Given the description of an element on the screen output the (x, y) to click on. 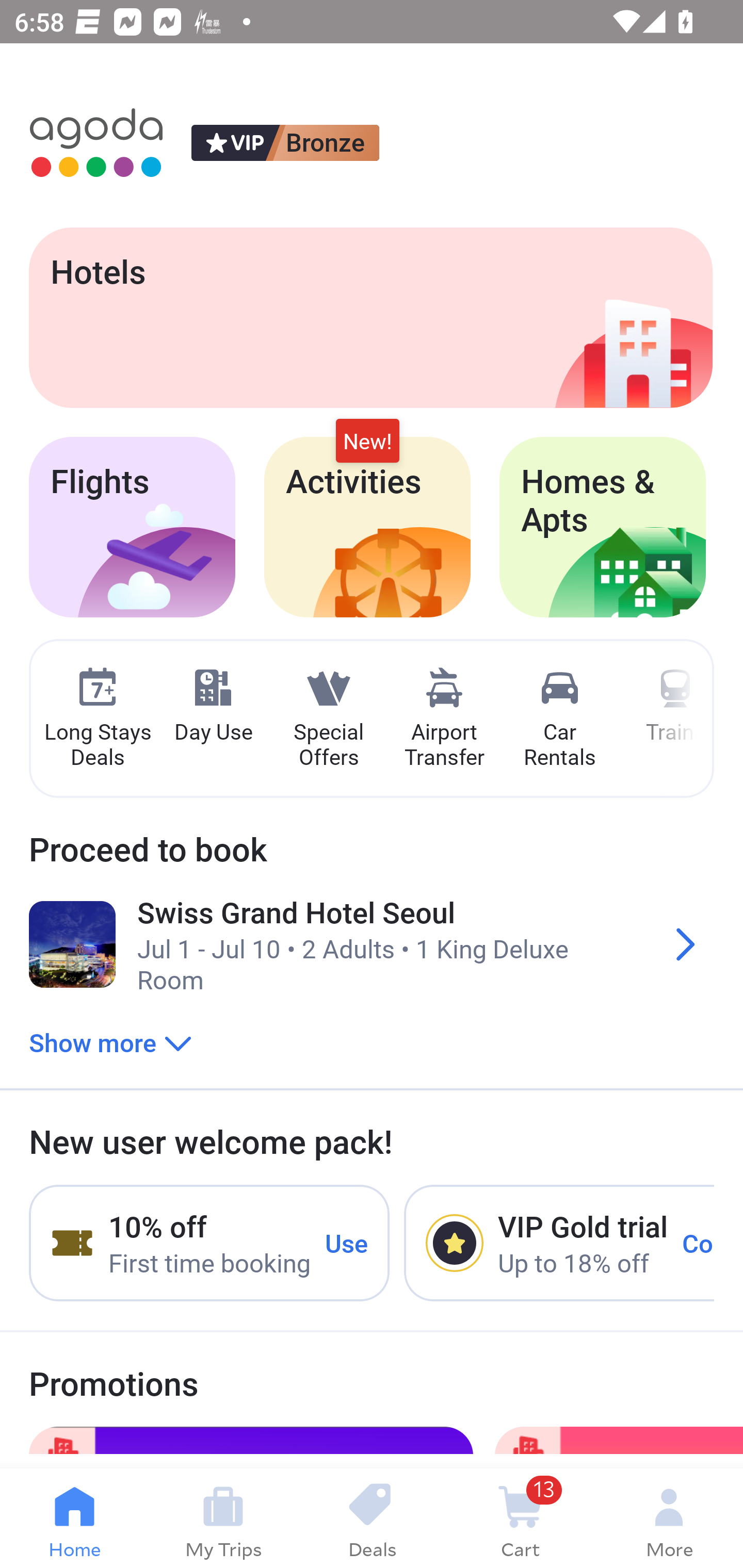
Hotels (370, 317)
New! (367, 441)
Flights (131, 527)
Activities (367, 527)
Homes & Apts (602, 527)
Day Use (213, 706)
Long Stays Deals (97, 718)
Special Offers (328, 718)
Airport Transfer (444, 718)
Car Rentals (559, 718)
Show more (110, 1041)
Use (346, 1242)
Home (74, 1518)
My Trips (222, 1518)
Deals (371, 1518)
13 Cart (519, 1518)
More (668, 1518)
